Given the description of an element on the screen output the (x, y) to click on. 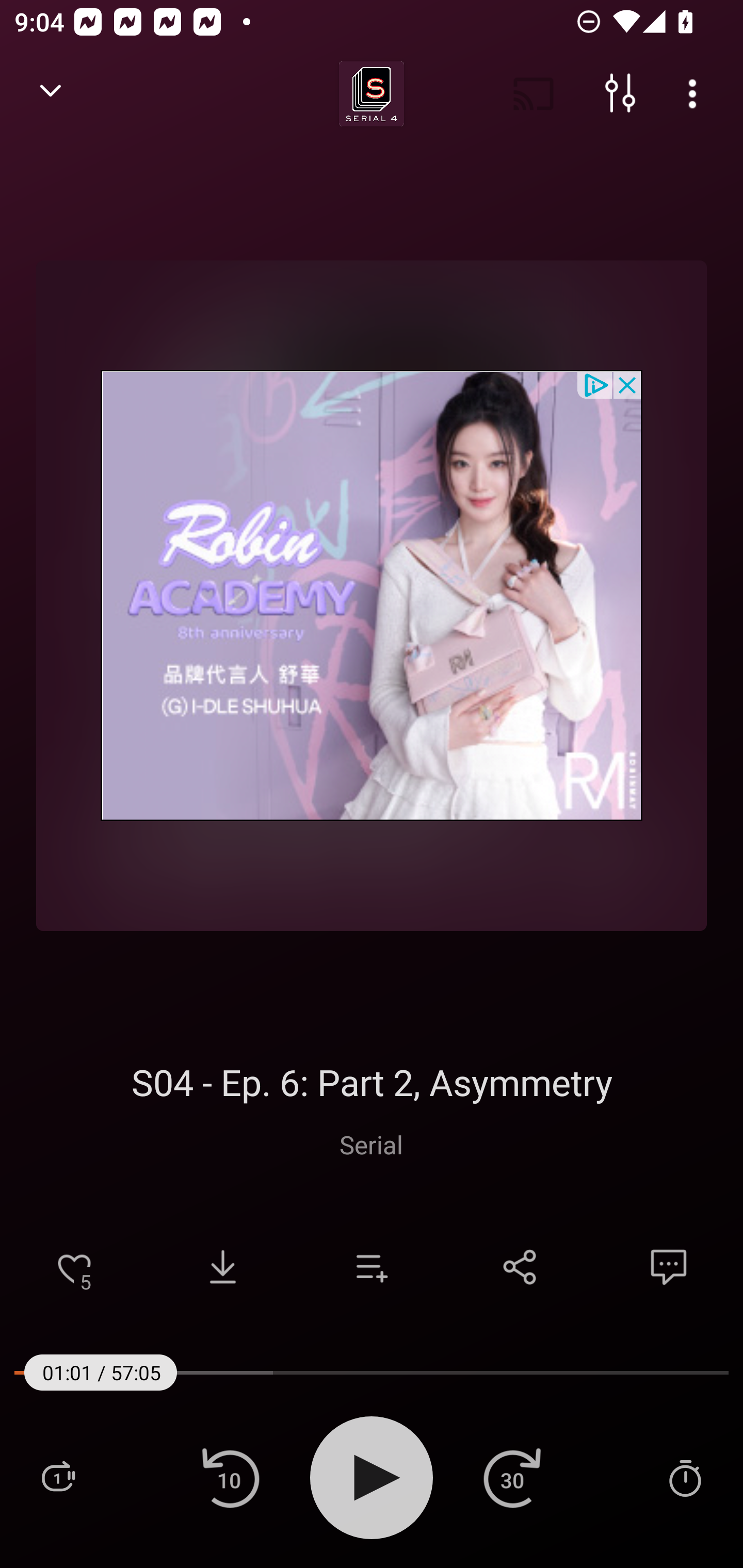
Cast. Disconnected (533, 93)
 Back (50, 94)
privacy_small (595, 384)
close_button (627, 384)
S04 - Ep. 6: Part 2, Asymmetry (371, 1081)
Serial (371, 1144)
Comments (668, 1266)
Add to Favorites (73, 1266)
Add to playlist (371, 1266)
Share (519, 1266)
 Playlist (57, 1477)
Sleep Timer  (684, 1477)
